Given the description of an element on the screen output the (x, y) to click on. 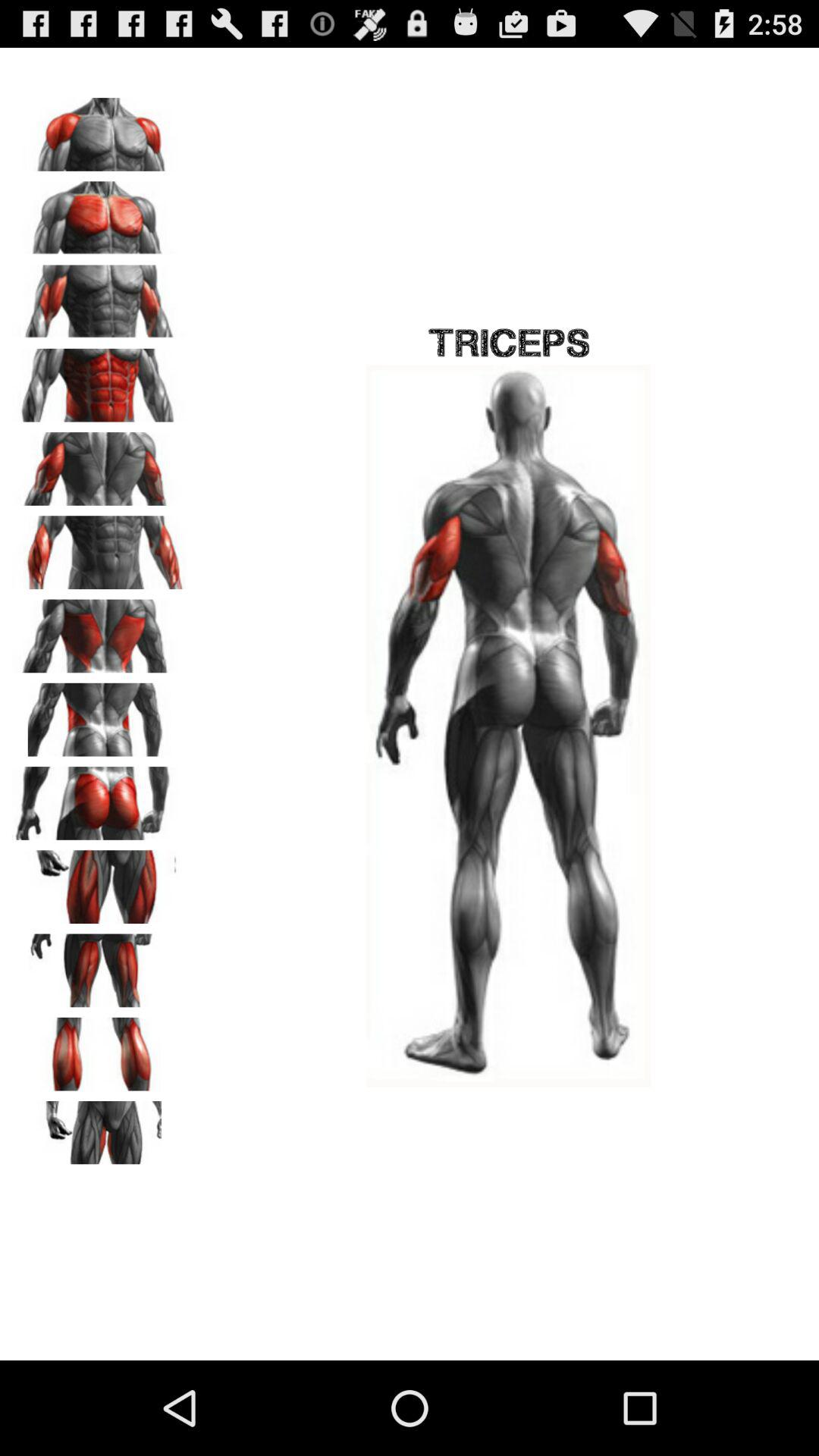
image option (99, 129)
